Given the description of an element on the screen output the (x, y) to click on. 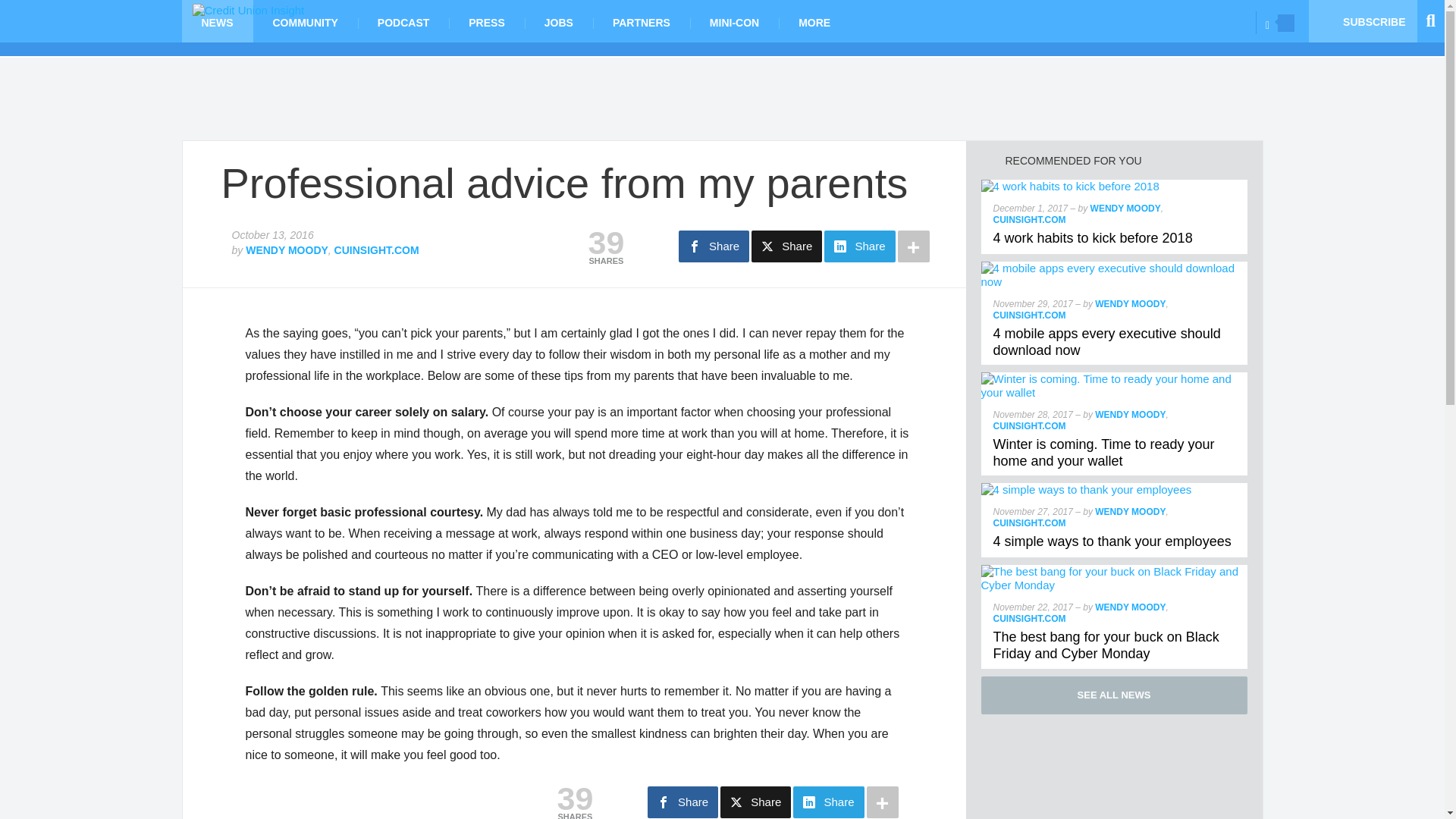
The best bang for your buck on Black Friday and Cyber Monday (1106, 644)
PRESS (486, 21)
The best bang for your buck on Black Friday and Cyber Monday (1114, 571)
SUBSCRIBE (1362, 21)
Winter is coming. Time to ready your home and your wallet (1114, 378)
Share (859, 246)
NEWS (217, 21)
Share (713, 246)
4 work habits to kick before 2018 (1092, 237)
PARTNERS (641, 21)
